Given the description of an element on the screen output the (x, y) to click on. 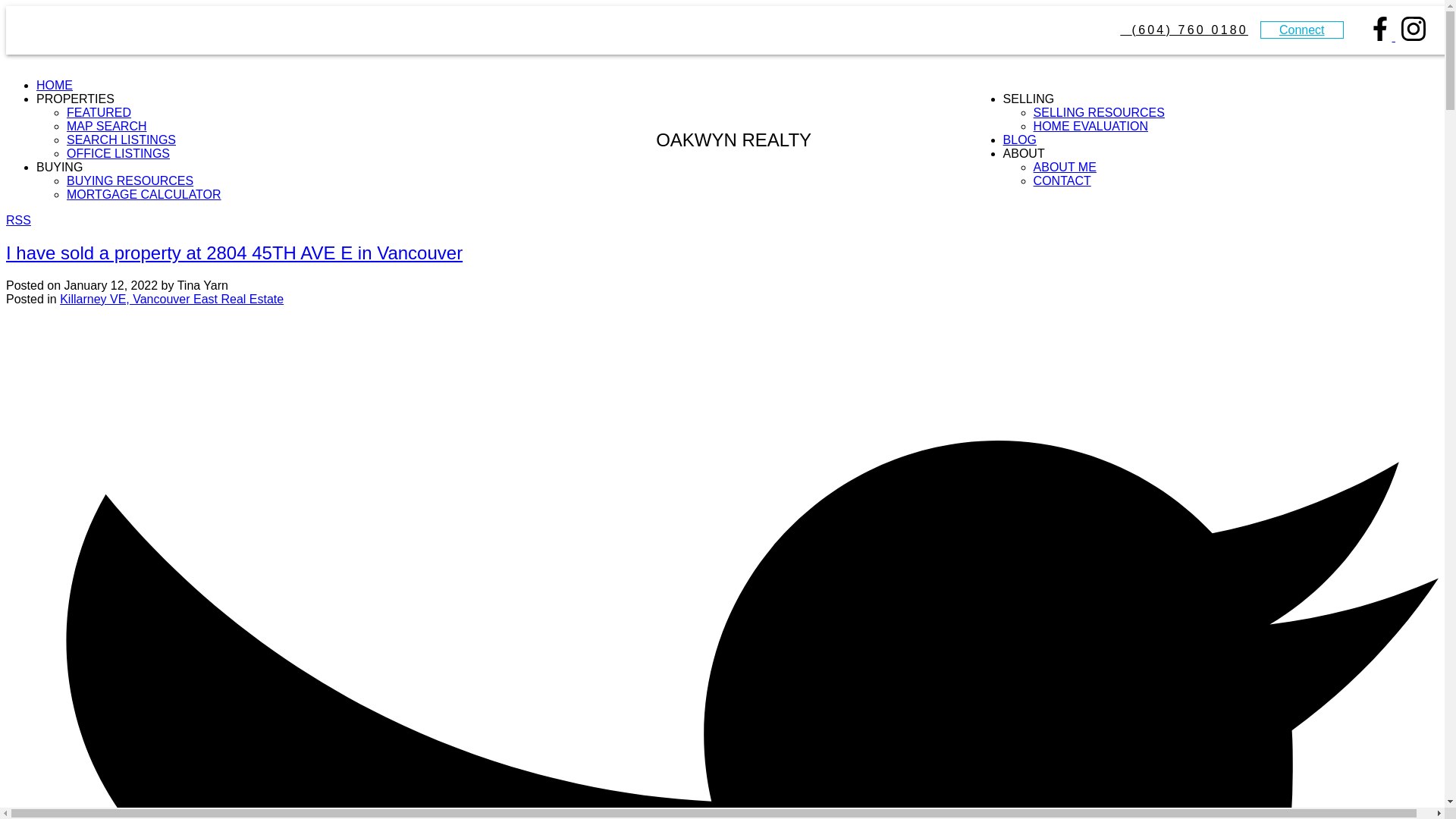
FEATURED (98, 112)
MORTGAGE CALCULATOR (143, 194)
BLOG (1019, 139)
HOME EVALUATION (1090, 125)
OFFICE LISTINGS (118, 153)
I have sold a property at 2804 45TH AVE E in Vancouver (234, 252)
SEARCH LISTINGS (121, 139)
SELLING RESOURCES (1098, 112)
ABOUT ME (1064, 166)
MAP SEARCH (106, 125)
